Given the description of an element on the screen output the (x, y) to click on. 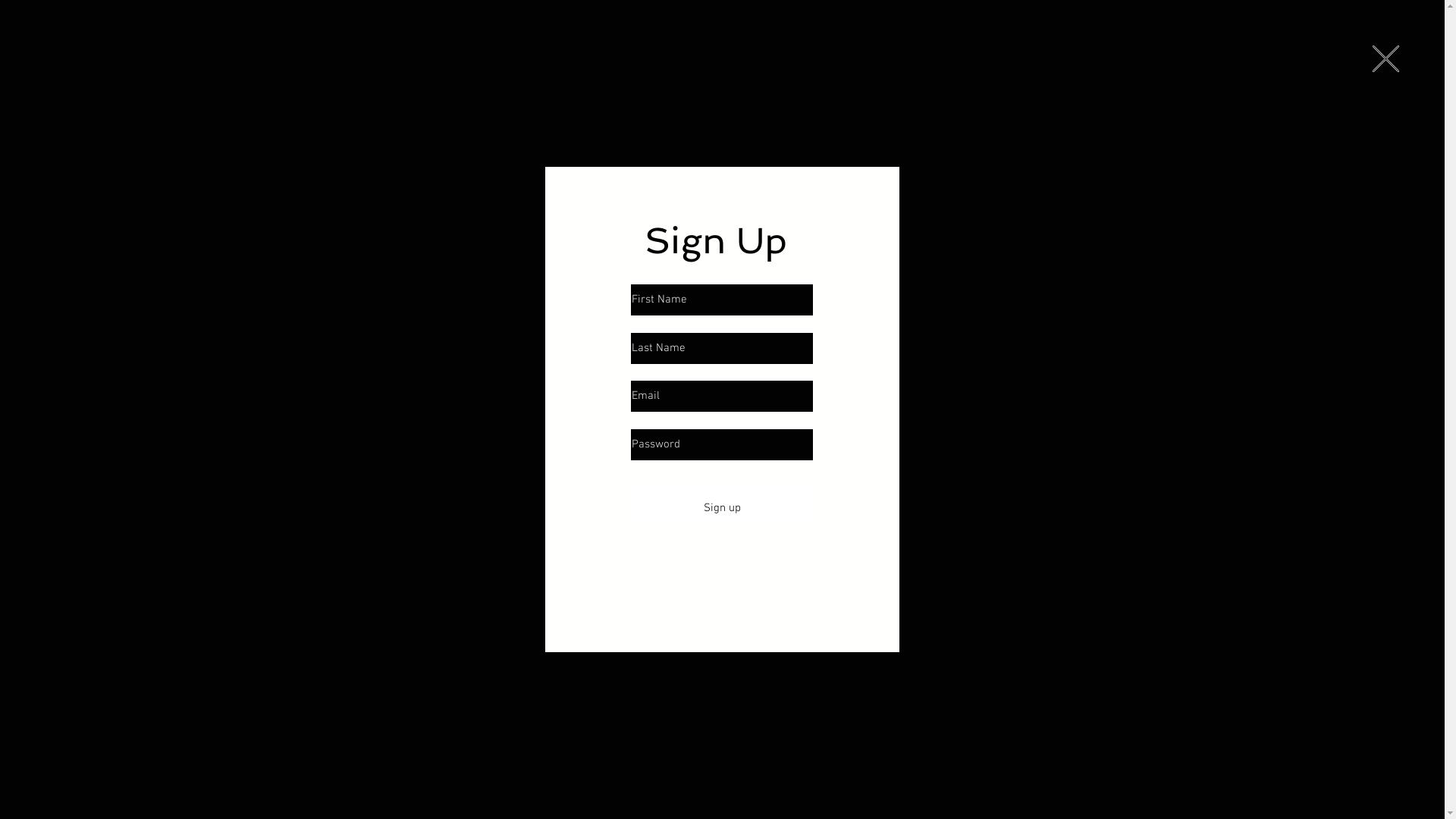
Sign up Element type: text (721, 507)
Back to site Element type: hover (1385, 58)
